Given the description of an element on the screen output the (x, y) to click on. 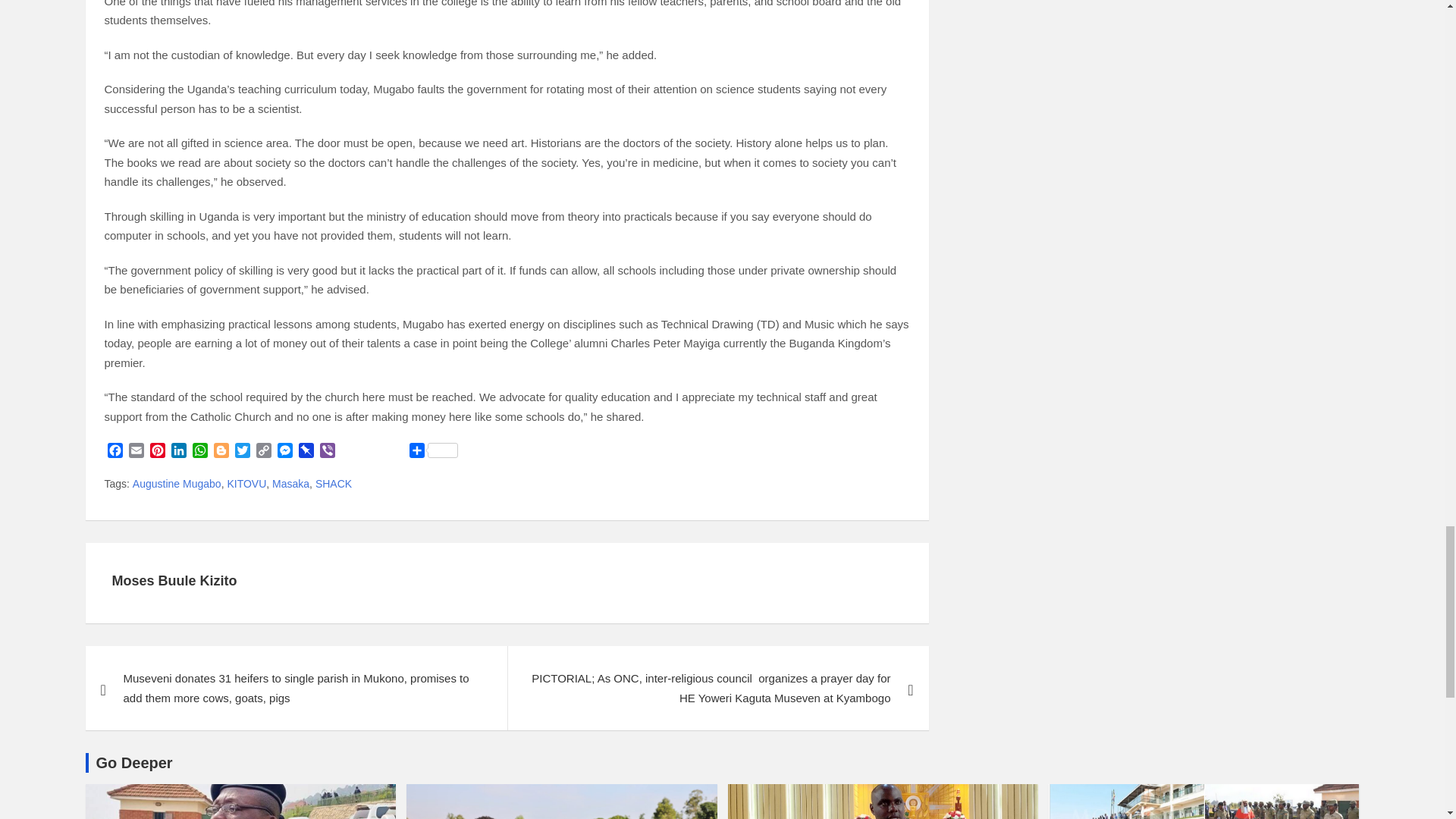
Facebook (114, 452)
Email (136, 452)
Twitter (242, 452)
Pinboard (306, 452)
Blogger (221, 452)
Blogger (221, 452)
Copy Link (264, 452)
Email (136, 452)
Pinboard (306, 452)
Viber (327, 452)
Pinterest (157, 452)
Viber (327, 452)
WhatsApp (200, 452)
Pinterest (157, 452)
WhatsApp (200, 452)
